Given the description of an element on the screen output the (x, y) to click on. 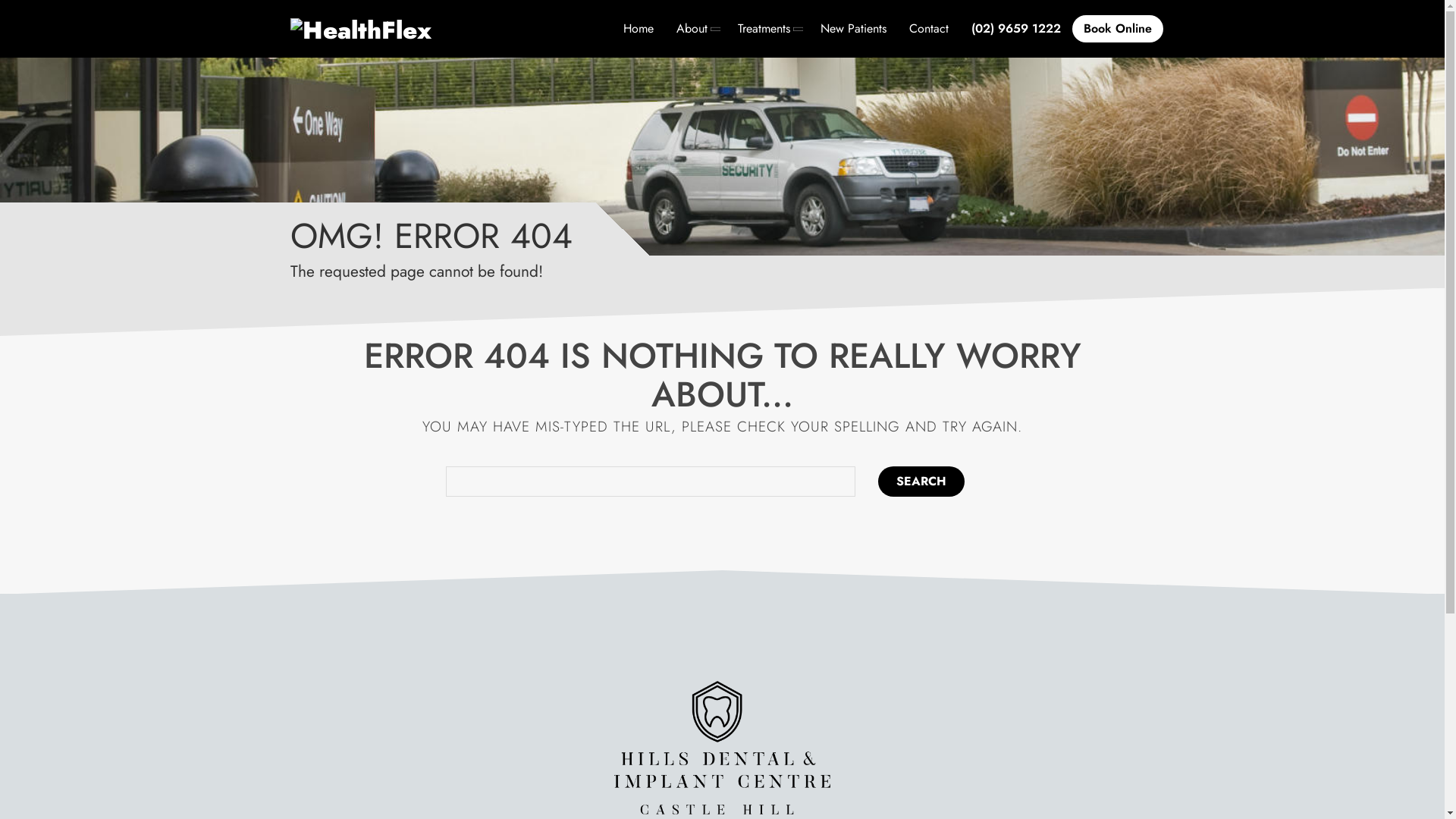
Contact Element type: text (928, 28)
(02) 9659 1222 Element type: text (1016, 28)
Book Online Element type: text (1117, 28)
New Patients Element type: text (852, 28)
SEARCH Element type: text (921, 481)
Treatments Element type: text (767, 28)
About Element type: text (694, 28)
Home Element type: text (637, 28)
